Given the description of an element on the screen output the (x, y) to click on. 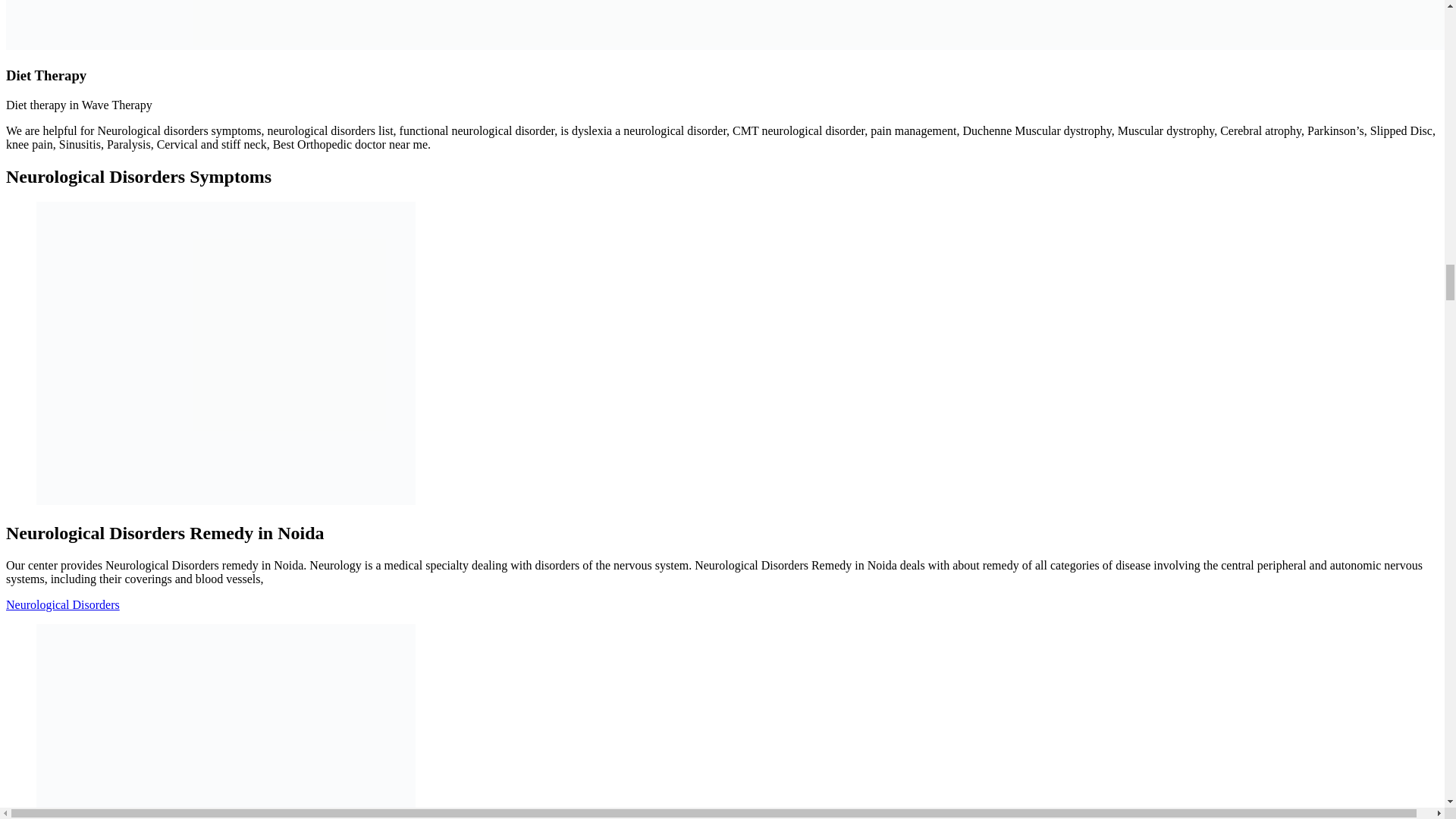
Neurological Disorders (62, 604)
